Given the description of an element on the screen output the (x, y) to click on. 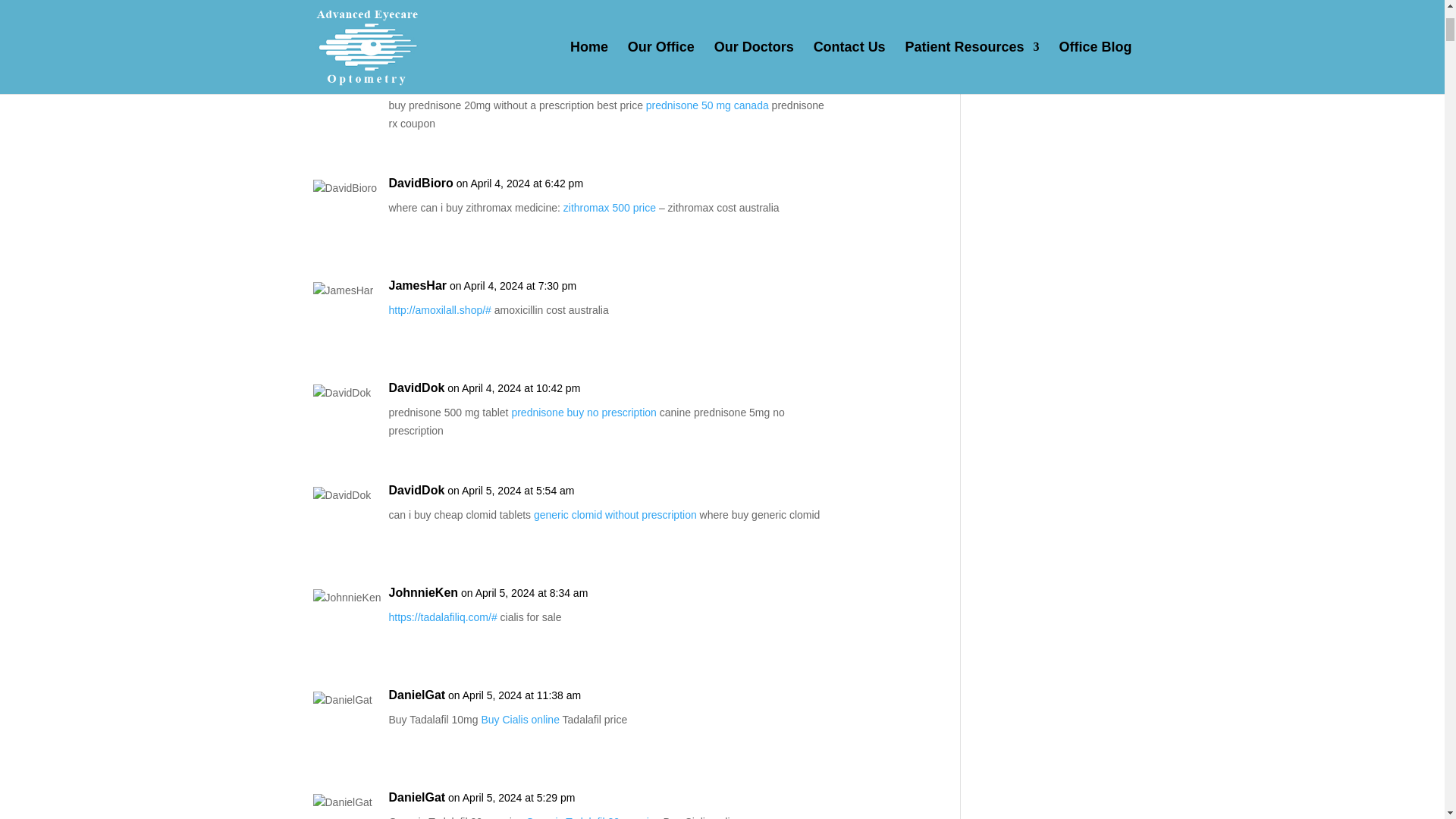
prednisone buy no prescription (583, 412)
prednisone 50 mg canada (707, 105)
zithromax 500 price (609, 207)
amoxicillin 500 mg purchase without prescription (585, 13)
generic clomid without prescription (615, 514)
